Given the description of an element on the screen output the (x, y) to click on. 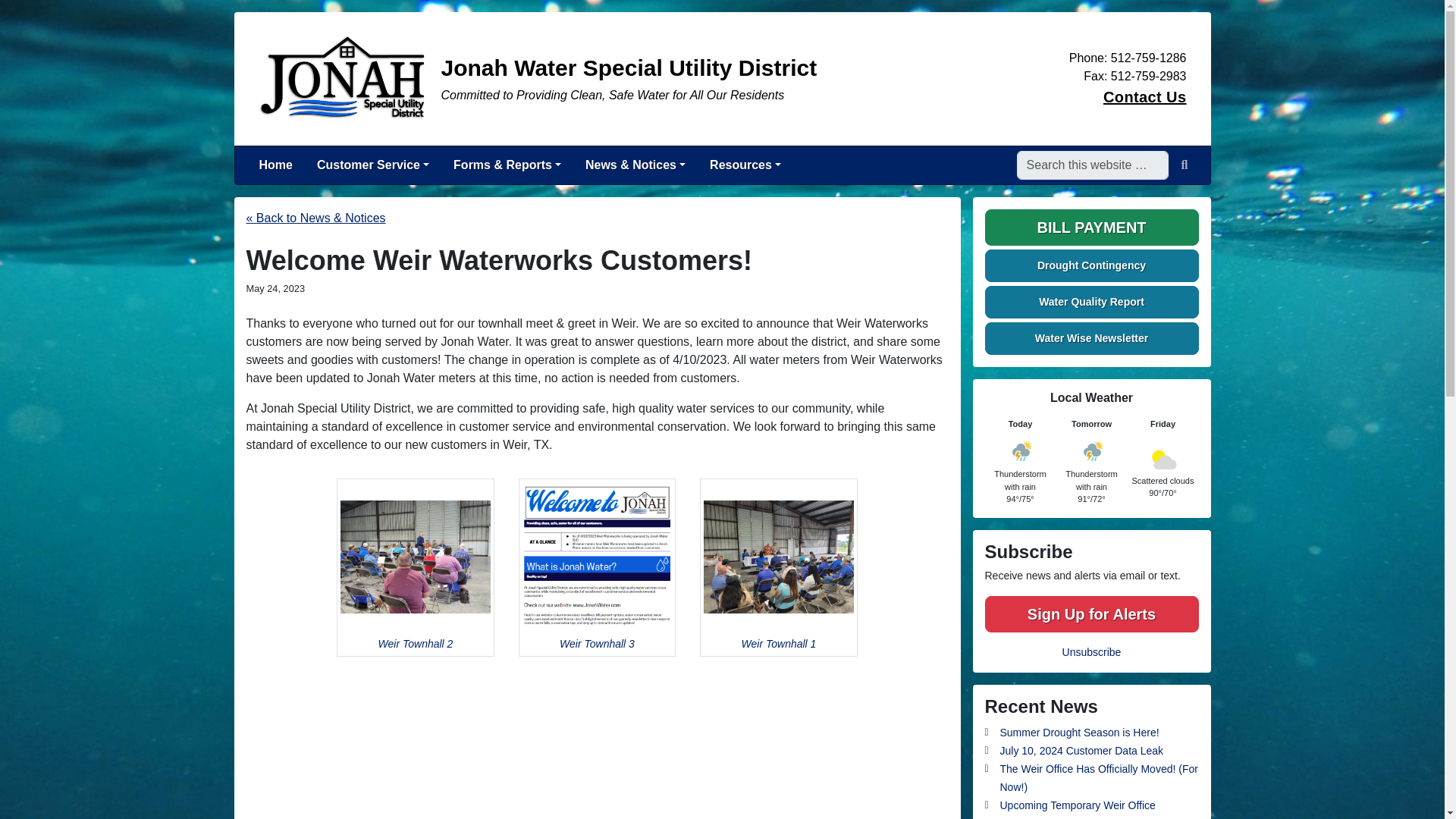
Contact Us (1144, 96)
Weir Townhall 3 (597, 567)
Search (1185, 164)
Resources (745, 165)
Weir Townhall 1 (778, 567)
Customer Service (372, 165)
Weir Townhall 2 (415, 567)
Home (275, 165)
